Given the description of an element on the screen output the (x, y) to click on. 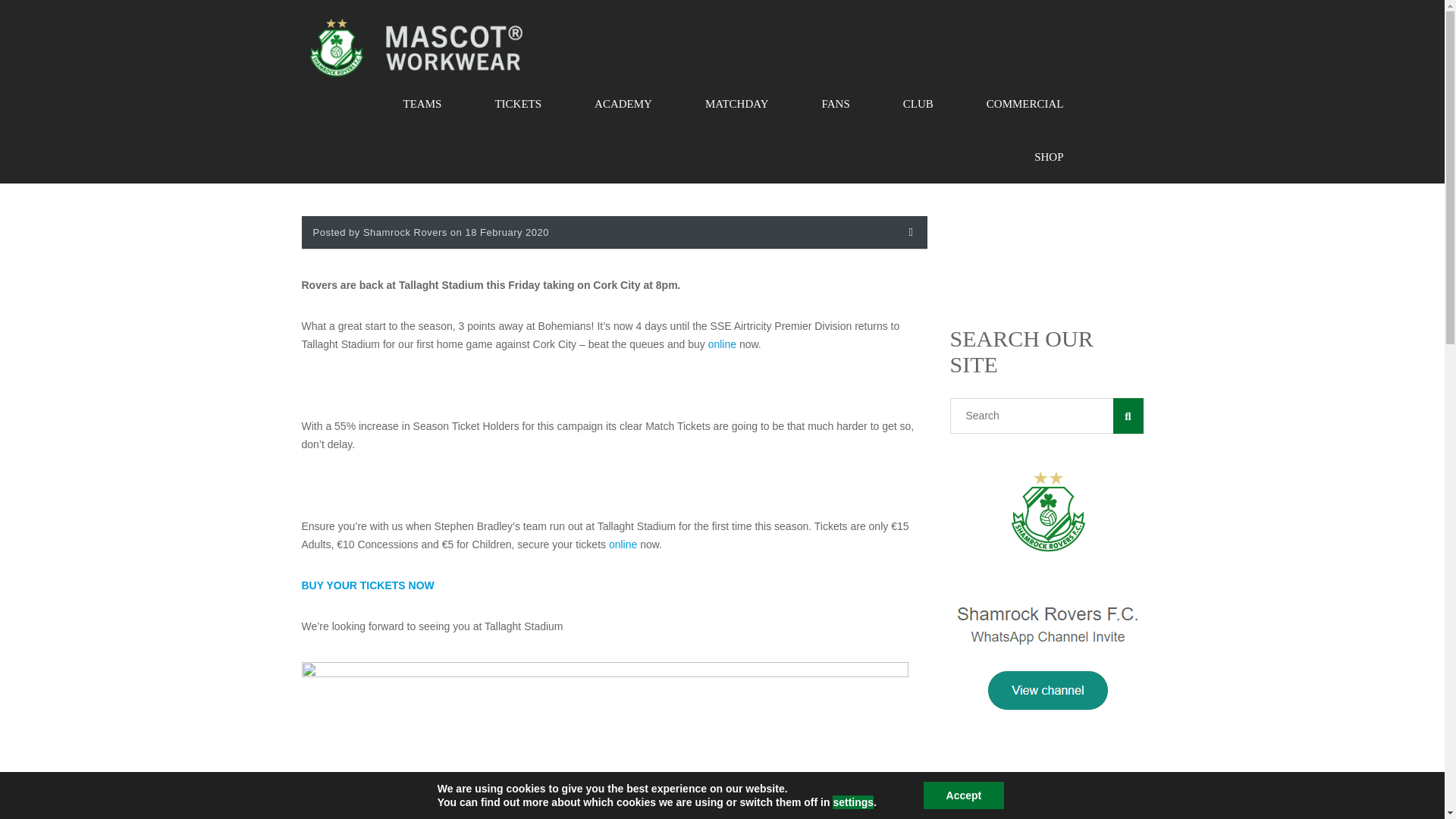
Submit (337, 618)
Home (415, 47)
ACADEMY (622, 103)
TICKETS (517, 103)
TEAMS (422, 103)
